Given the description of an element on the screen output the (x, y) to click on. 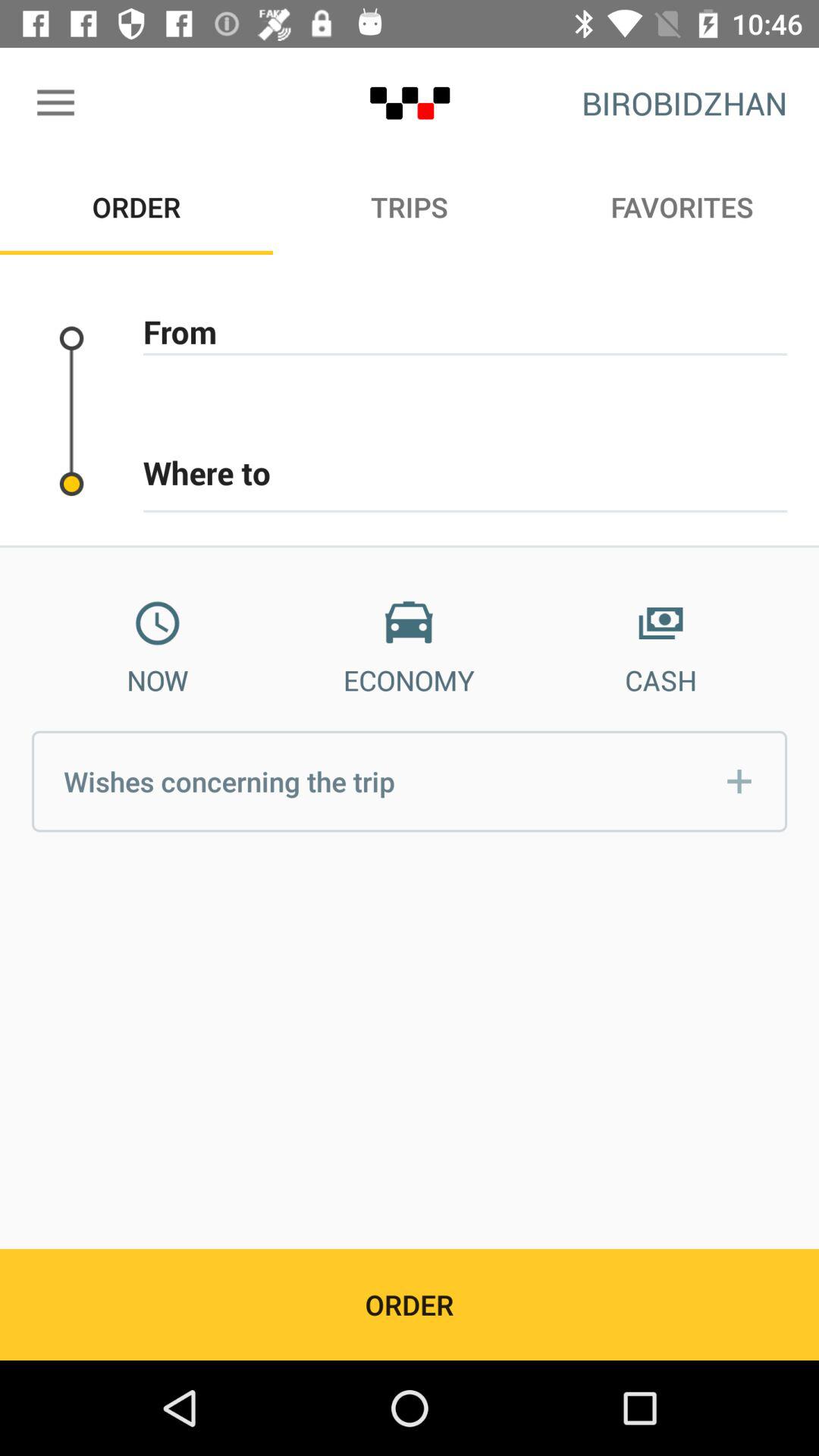
open the birobidzhan icon (684, 102)
